Given the description of an element on the screen output the (x, y) to click on. 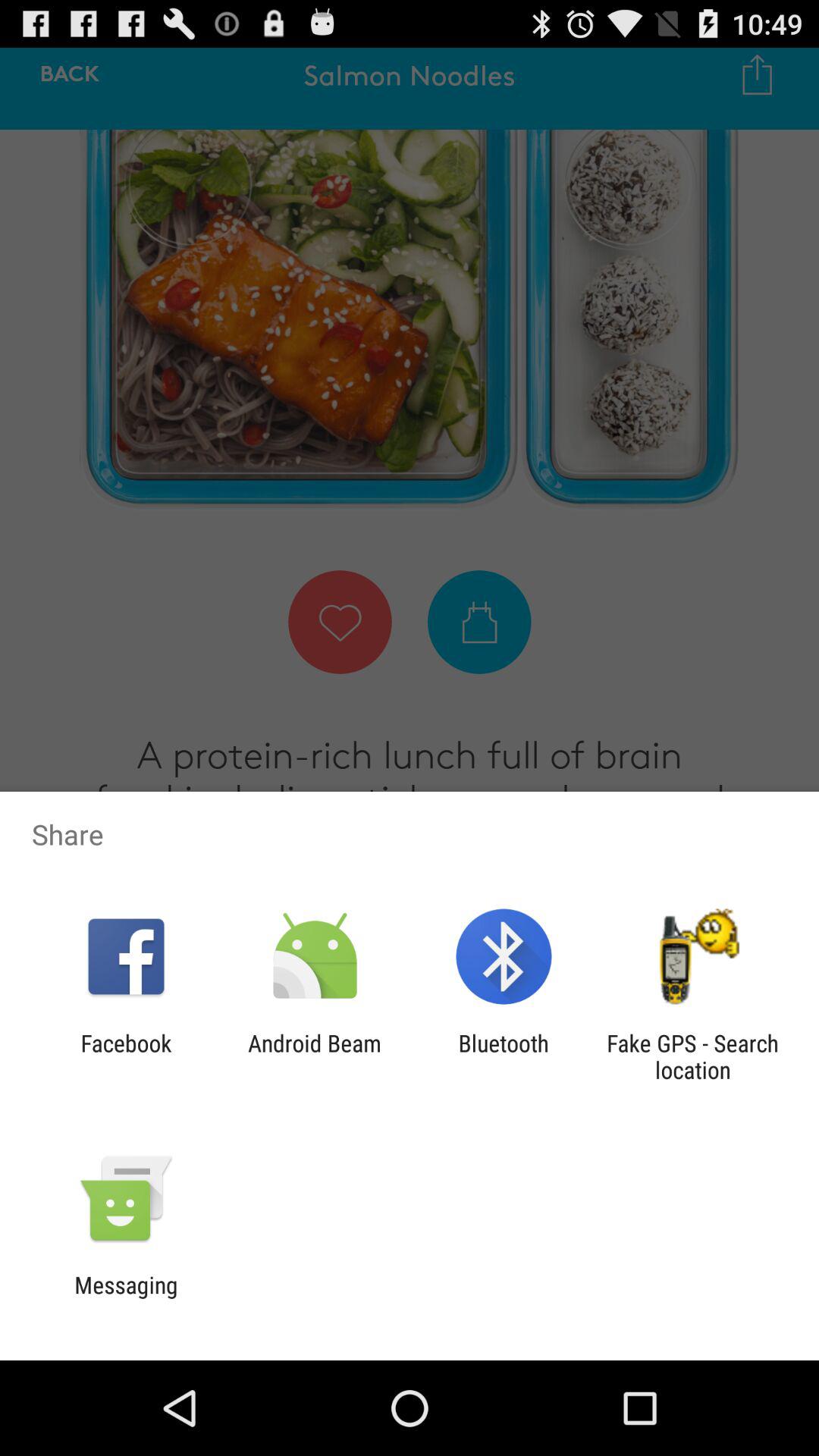
select the app next to bluetooth app (314, 1056)
